Given the description of an element on the screen output the (x, y) to click on. 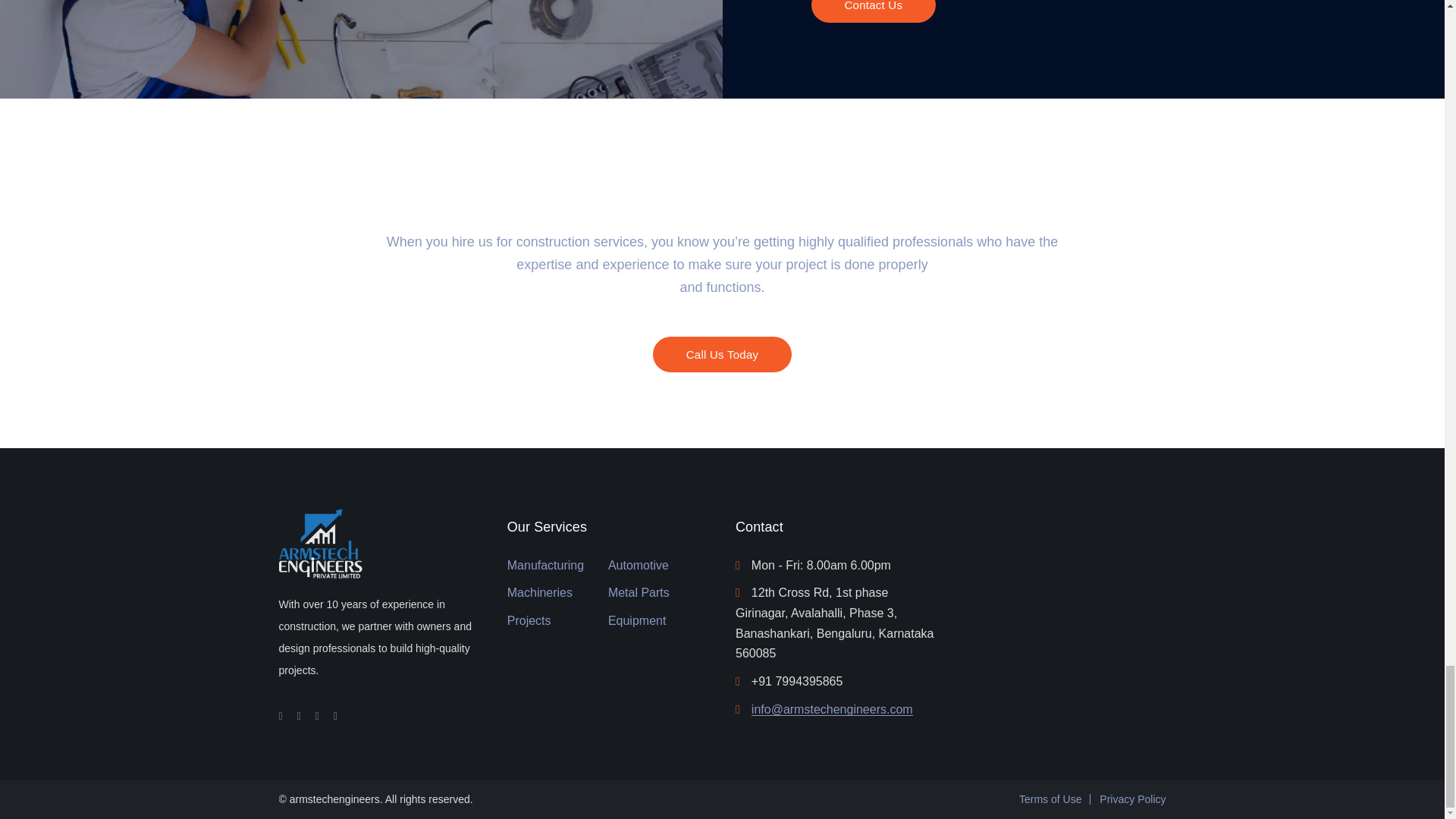
Projects (528, 620)
Metal Parts (638, 593)
Terms of Use (1050, 799)
Machineries (539, 593)
Contact Us (873, 11)
Manufacturing (544, 566)
Automotive (638, 566)
Equipment (637, 620)
Call Us Today (722, 354)
Privacy Policy (1132, 799)
